Given the description of an element on the screen output the (x, y) to click on. 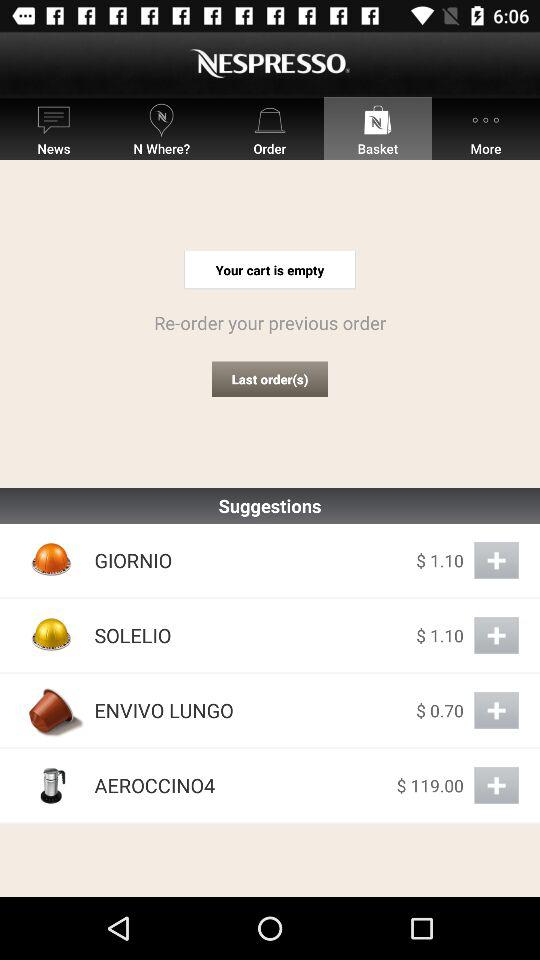
click on grey color box with plus sign at bottom right corner (496, 785)
click on the icon above basket (377, 120)
select the image beside envivo lungo (52, 710)
select the button which is right to giornio (496, 560)
select the second icon below the suggestions (52, 635)
